Given the description of an element on the screen output the (x, y) to click on. 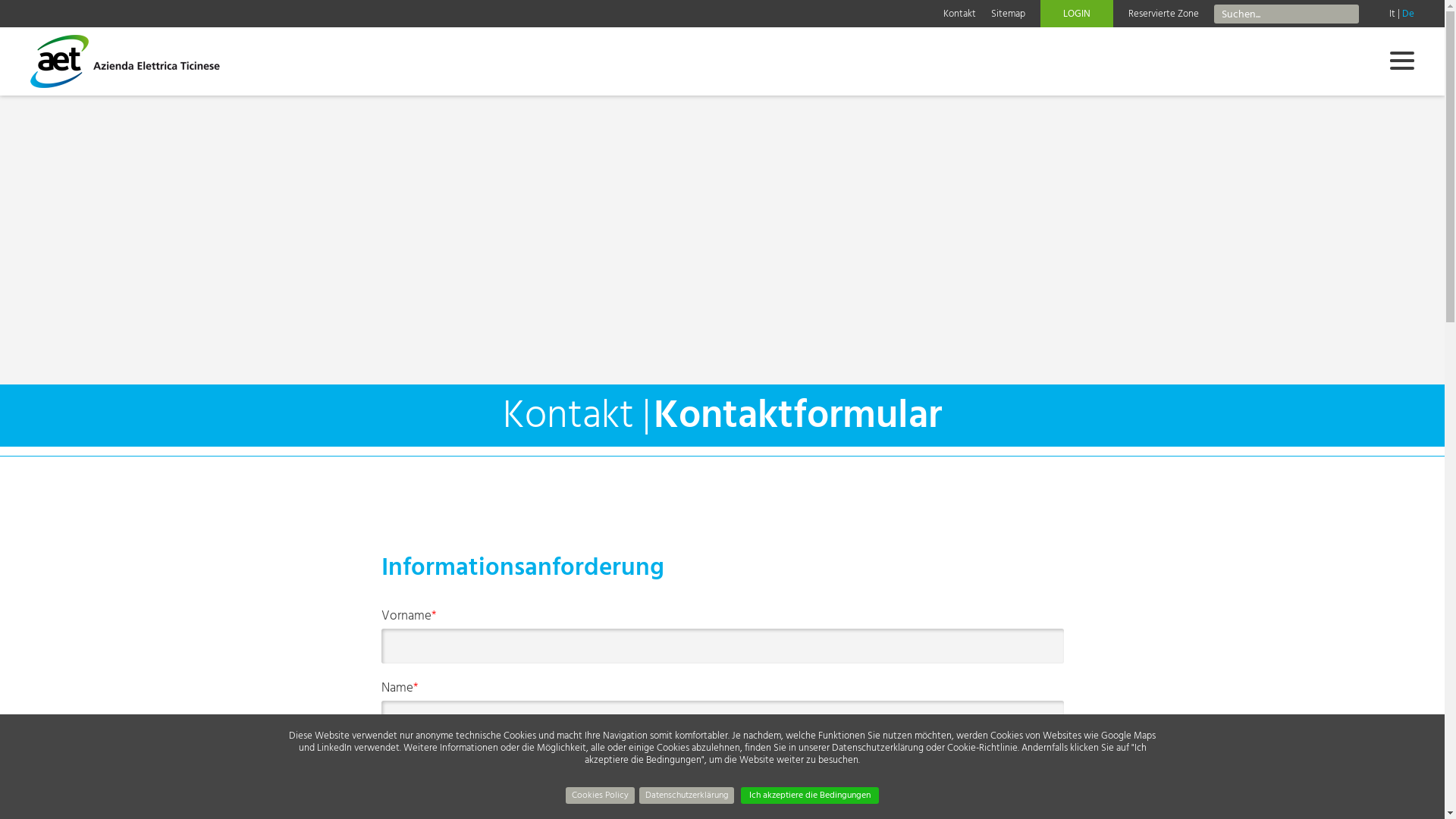
Sitemap Element type: text (1007, 13)
Cookies Policy Element type: text (599, 795)
 Ich akzeptiere die Bedingungen  Element type: text (809, 795)
Kontakt Element type: hover (1430, 735)
Reservierte Zone Element type: text (1163, 13)
 INFO  Element type: text (24, 9)
Kontakt Element type: text (959, 13)
Wo sind wir Element type: hover (1430, 770)
It Element type: text (1392, 13)
